Given the description of an element on the screen output the (x, y) to click on. 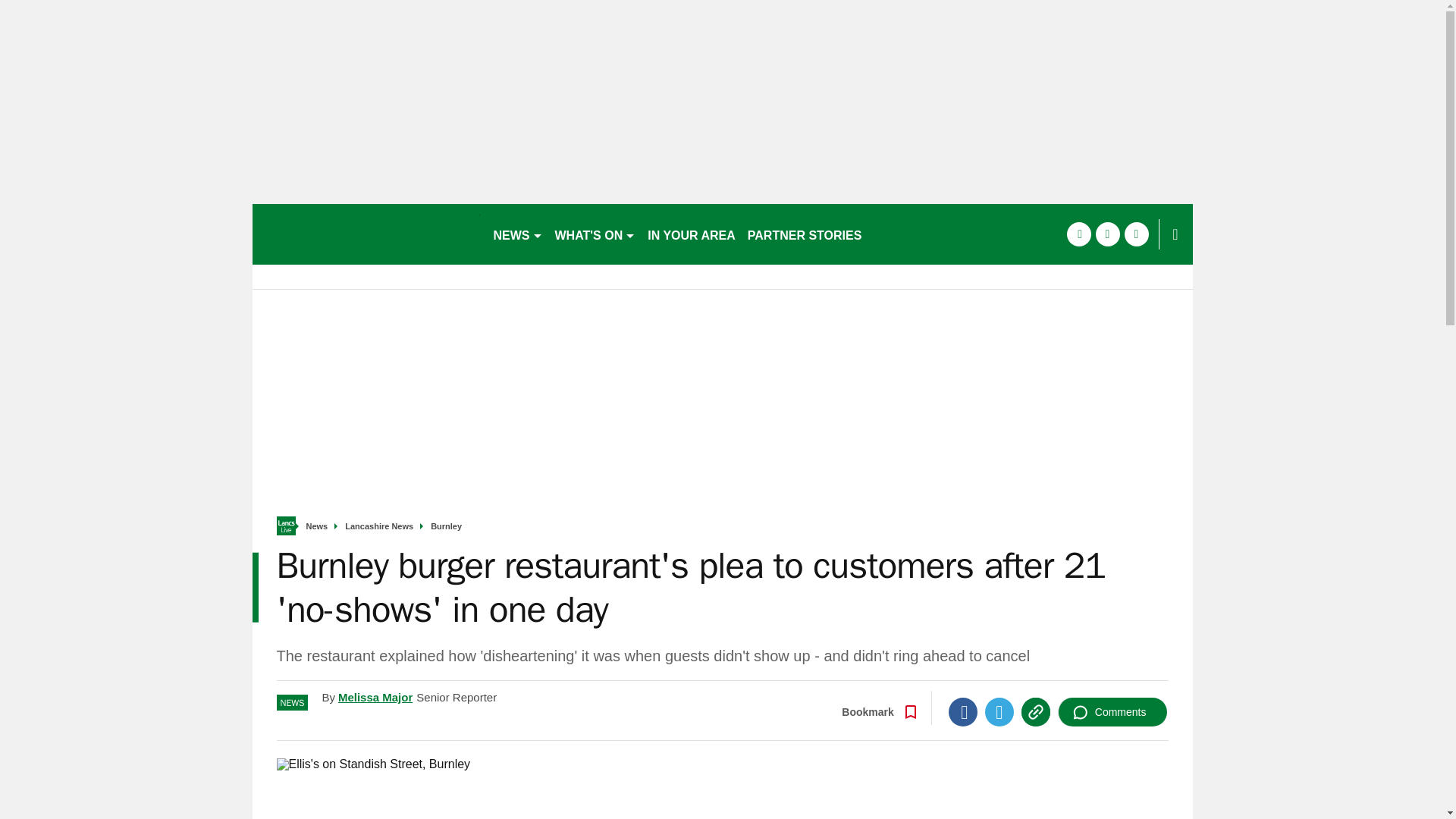
NEWS (517, 233)
Facebook (962, 711)
Comments (1112, 711)
WHAT'S ON (595, 233)
Twitter (999, 711)
instagram (1136, 233)
IN YOUR AREA (691, 233)
PARTNER STORIES (804, 233)
accrington (365, 233)
twitter (1106, 233)
